Given the description of an element on the screen output the (x, y) to click on. 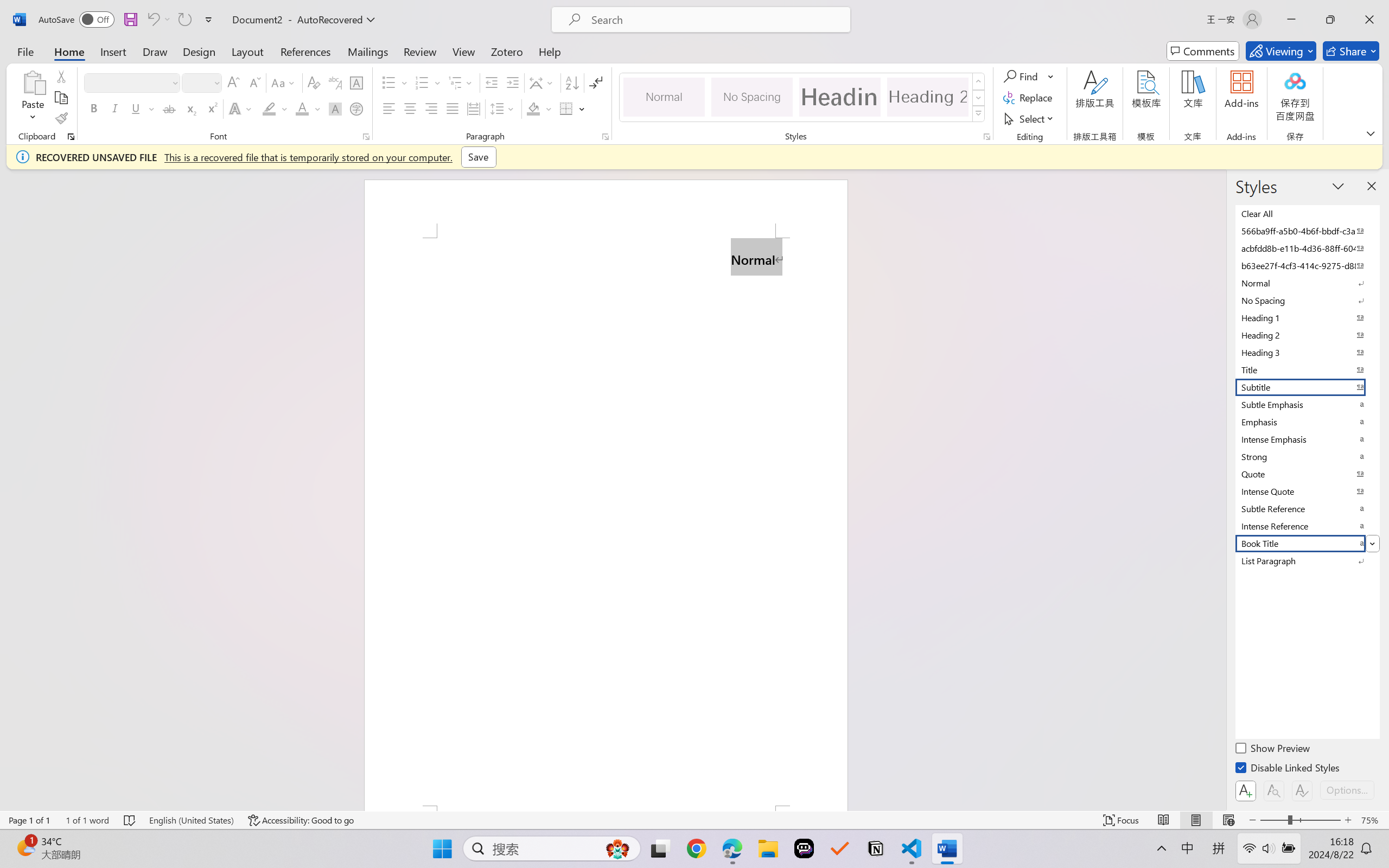
List Paragraph (1306, 560)
Replace... (1029, 97)
Task Pane Options (1338, 185)
Show/Hide Editing Marks (595, 82)
Normal (1306, 282)
Quote (1306, 473)
Page Number Page 1 of 1 (29, 819)
Intense Reference (1306, 525)
Select (1030, 118)
